Given the description of an element on the screen output the (x, y) to click on. 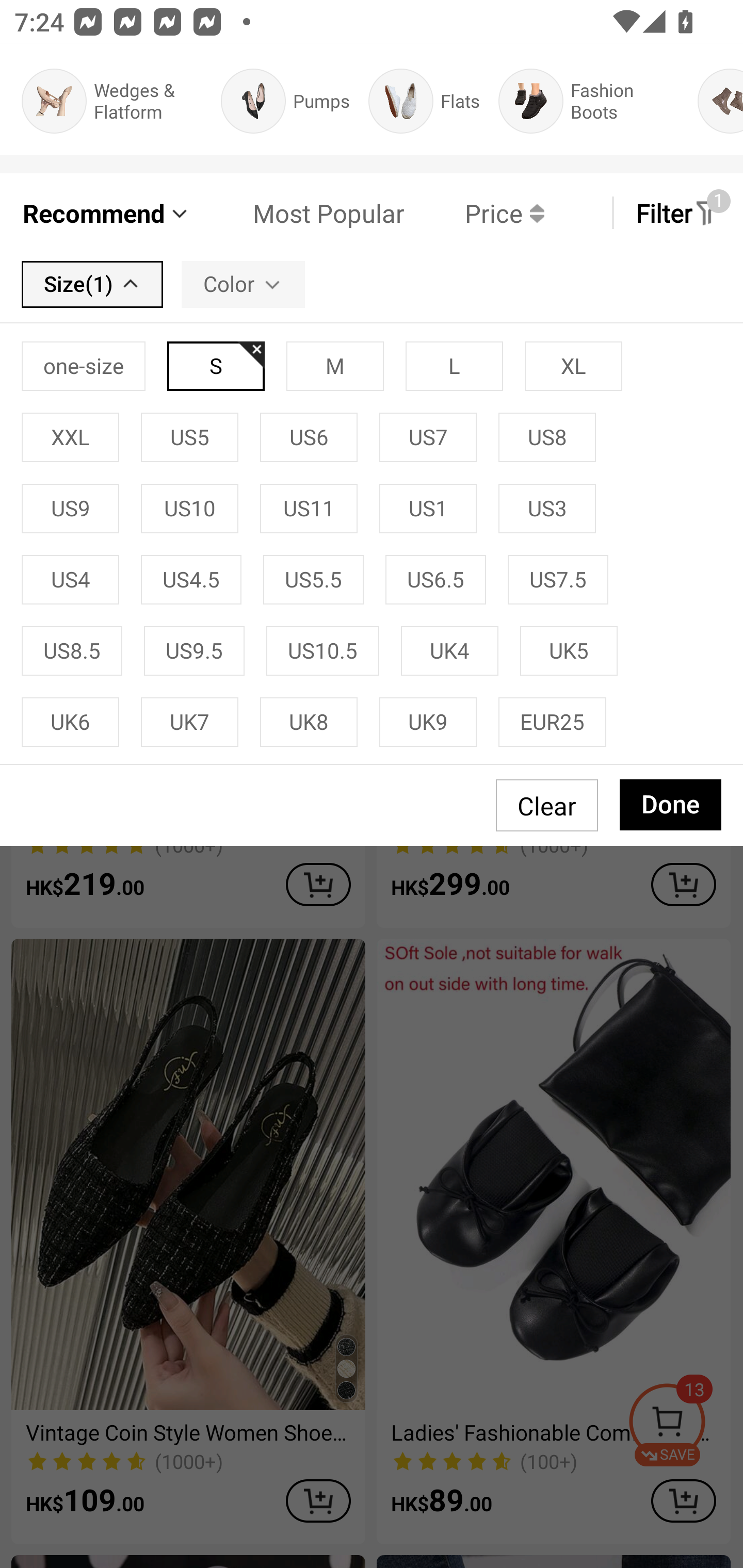
Wedges & Flatform (111, 100)
Pumps (284, 100)
Flats (423, 100)
Fashion Boots (588, 100)
Recommend (106, 213)
Most Popular (297, 213)
Price (474, 213)
Filter 1 (677, 213)
Size(1) (91, 283)
Color (242, 283)
